Given the description of an element on the screen output the (x, y) to click on. 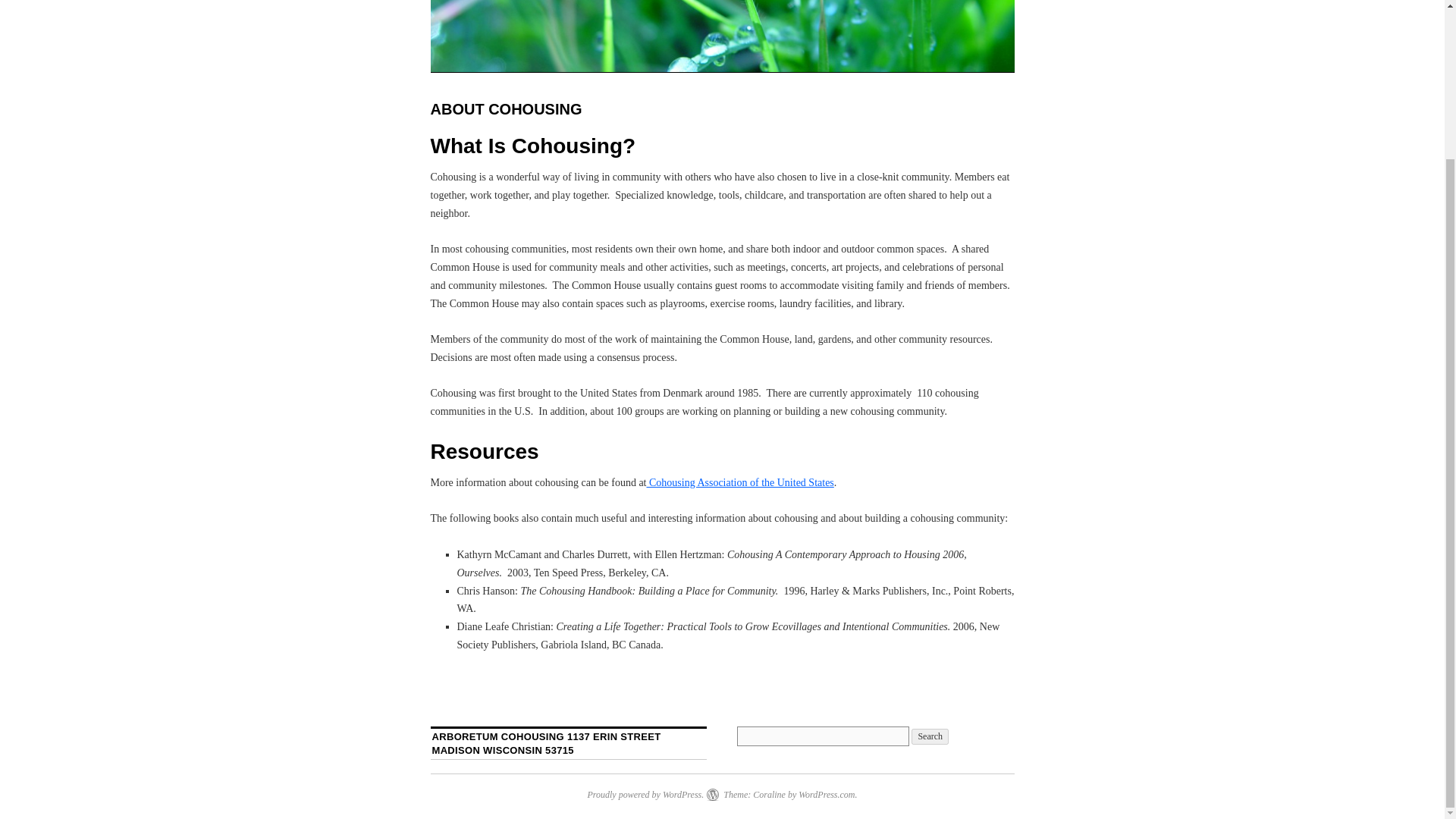
Search (930, 736)
WordPress.com (825, 794)
Search (930, 736)
Proudly powered by WordPress. (644, 794)
 Cohousing Association of the United States (739, 482)
Cohousing USA website (739, 482)
A Semantic Personal Publishing Platform (644, 794)
